Given the description of an element on the screen output the (x, y) to click on. 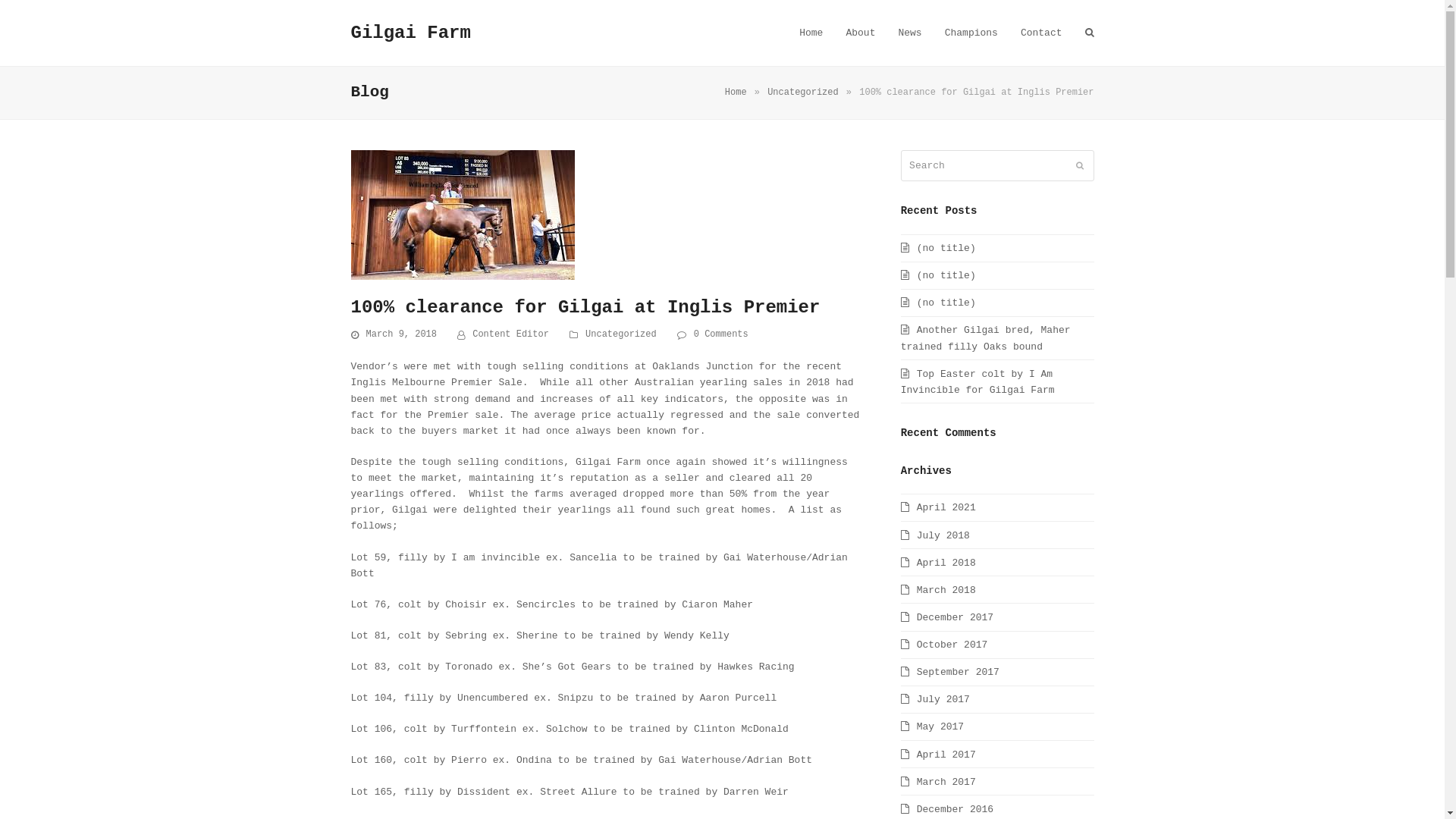
Content Editor Element type: text (510, 334)
December 2016 Element type: text (946, 809)
Home Element type: text (735, 92)
News Element type: text (909, 33)
Uncategorized Element type: text (802, 92)
Top Easter colt by I Am Invincible for Gilgai Farm Element type: text (977, 381)
July 2017 Element type: text (934, 699)
(no title) Element type: text (937, 302)
Contact Element type: text (1041, 33)
April 2021 Element type: text (937, 507)
April 2017 Element type: text (937, 754)
March 2017 Element type: text (937, 781)
April 2018 Element type: text (937, 562)
May 2017 Element type: text (931, 726)
September 2017 Element type: text (949, 671)
About Element type: text (860, 33)
October 2017 Element type: text (944, 644)
Submit Element type: text (1078, 165)
Home Element type: text (810, 33)
Champions Element type: text (971, 33)
Uncategorized Element type: text (620, 334)
(no title) Element type: text (937, 248)
July 2018 Element type: text (934, 535)
0 Comments Element type: text (720, 334)
December 2017 Element type: text (946, 617)
(no title) Element type: text (937, 275)
March 2018 Element type: text (937, 590)
Gilgai Farm Element type: text (410, 32)
Another Gilgai bred, Maher trained filly Oaks bound Element type: text (985, 337)
